Given the description of an element on the screen output the (x, y) to click on. 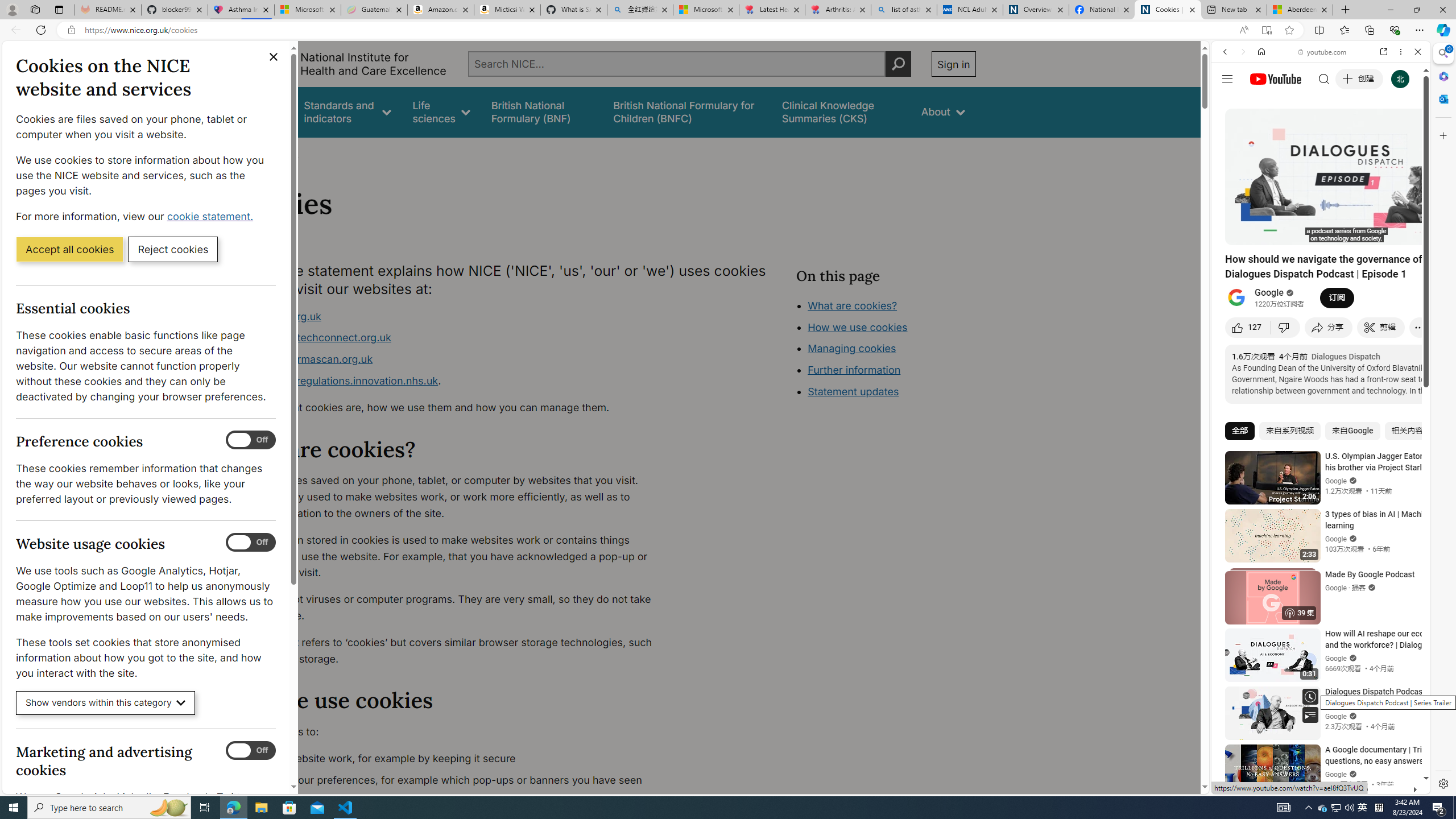
youtube.com (1322, 51)
Search videos from youtube.com (1299, 373)
